Given the description of an element on the screen output the (x, y) to click on. 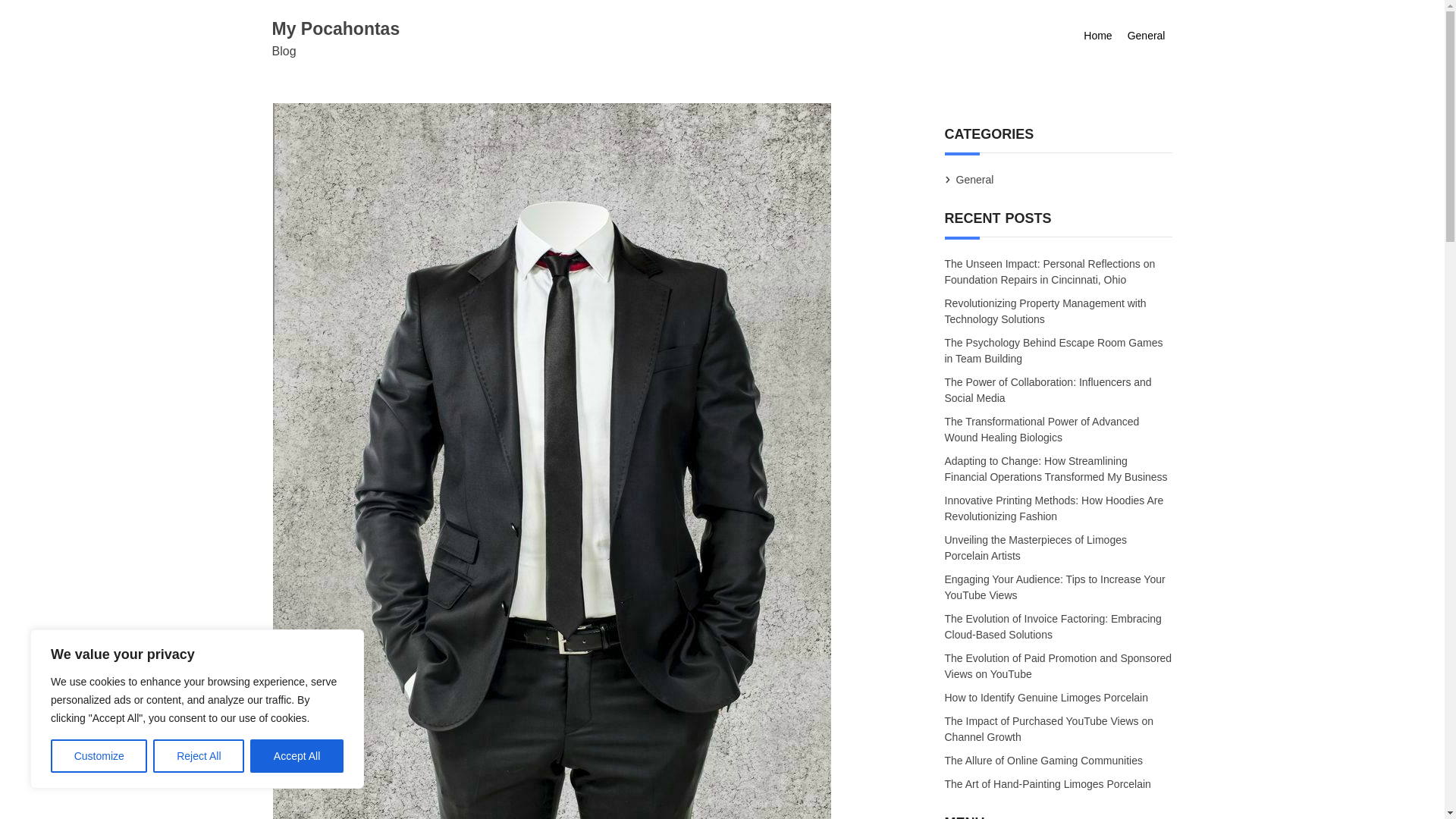
The Power of Collaboration: Influencers and Social Media (1047, 390)
Accept All (296, 756)
Customize (98, 756)
General (1146, 35)
Reject All (198, 756)
Unveiling the Masterpieces of Limoges Porcelain Artists (1035, 548)
